Given the description of an element on the screen output the (x, y) to click on. 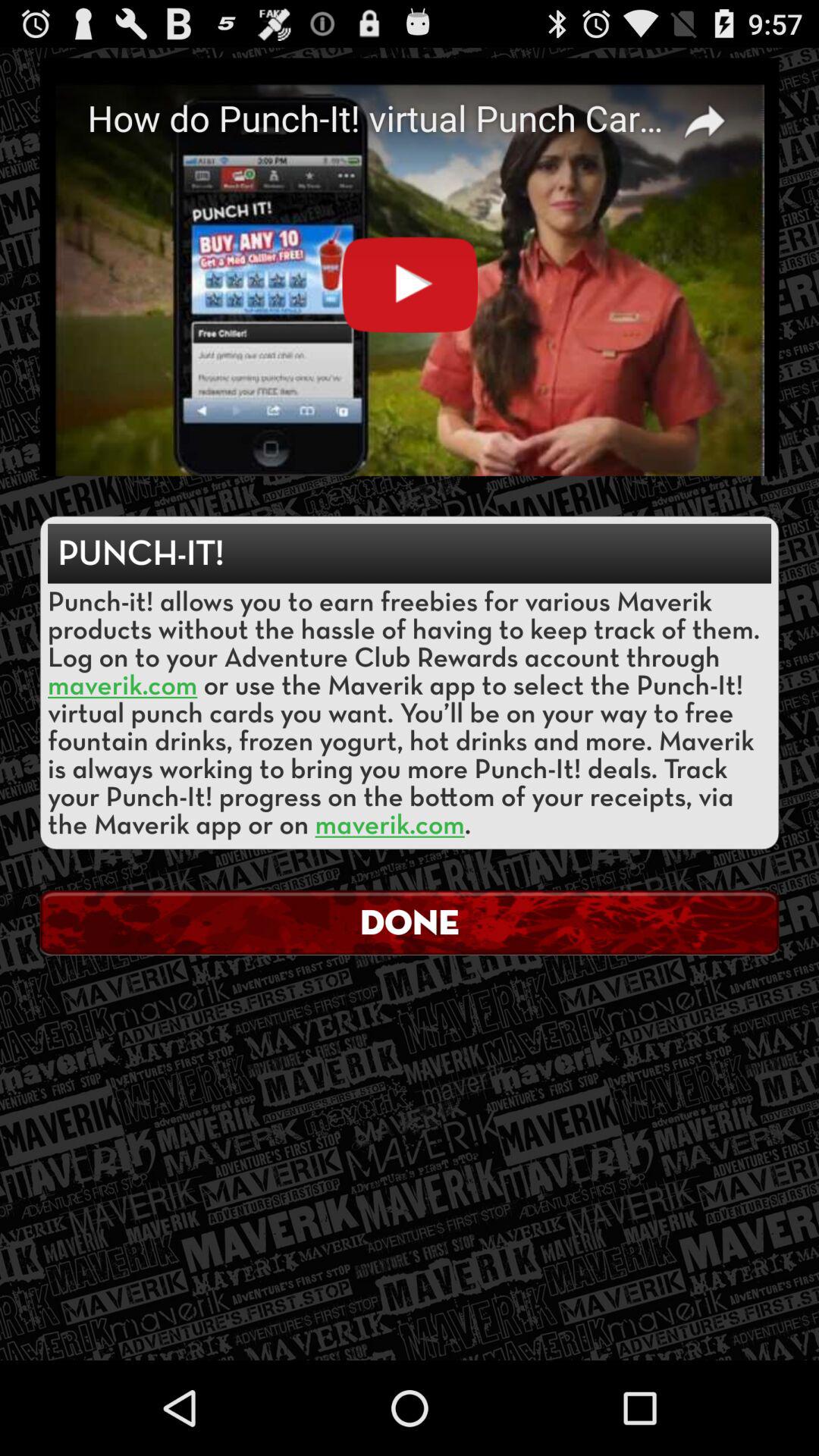
turn off the done (409, 922)
